Given the description of an element on the screen output the (x, y) to click on. 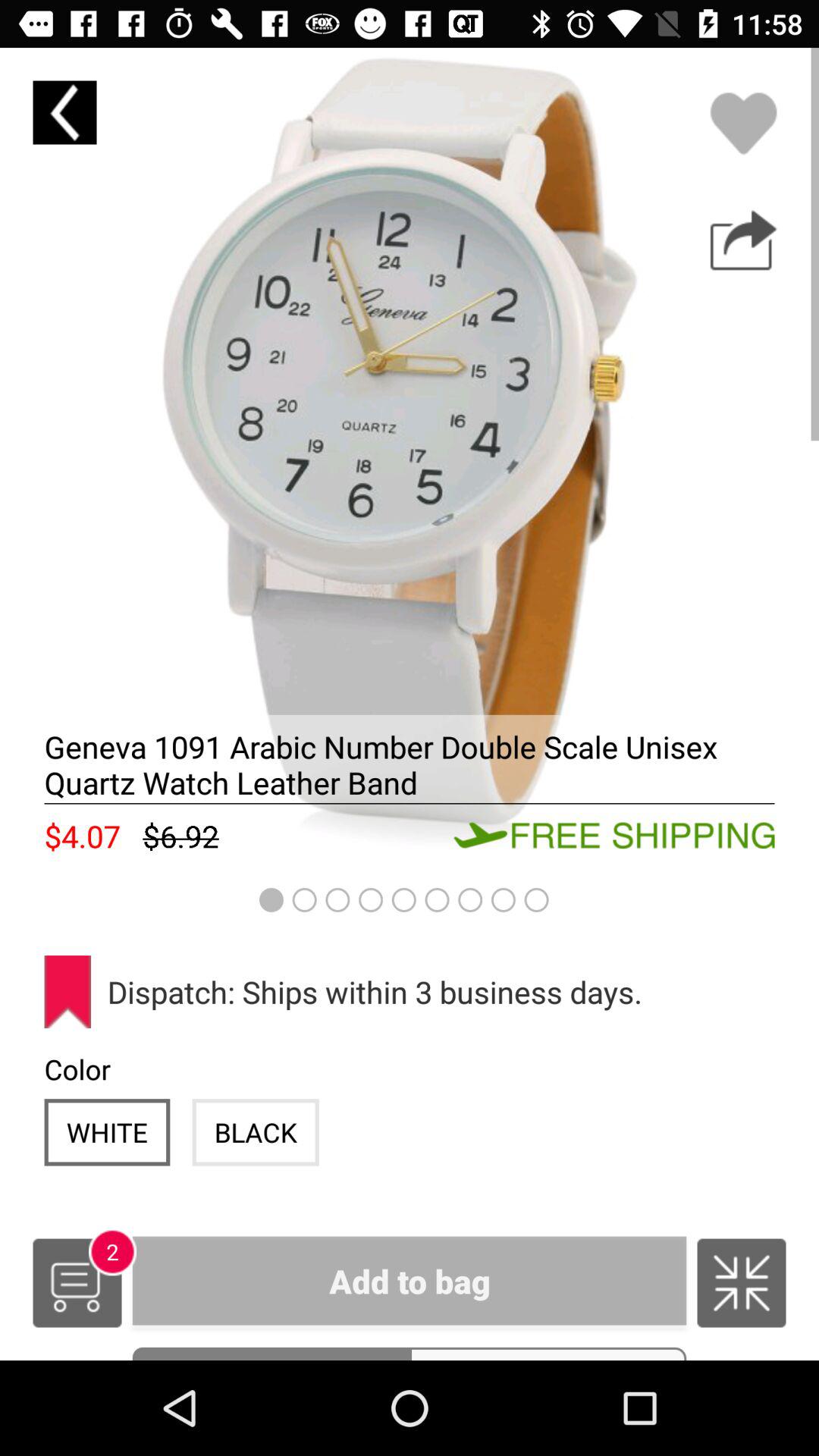
open the item to the left of the add to bag icon (76, 1282)
